Given the description of an element on the screen output the (x, y) to click on. 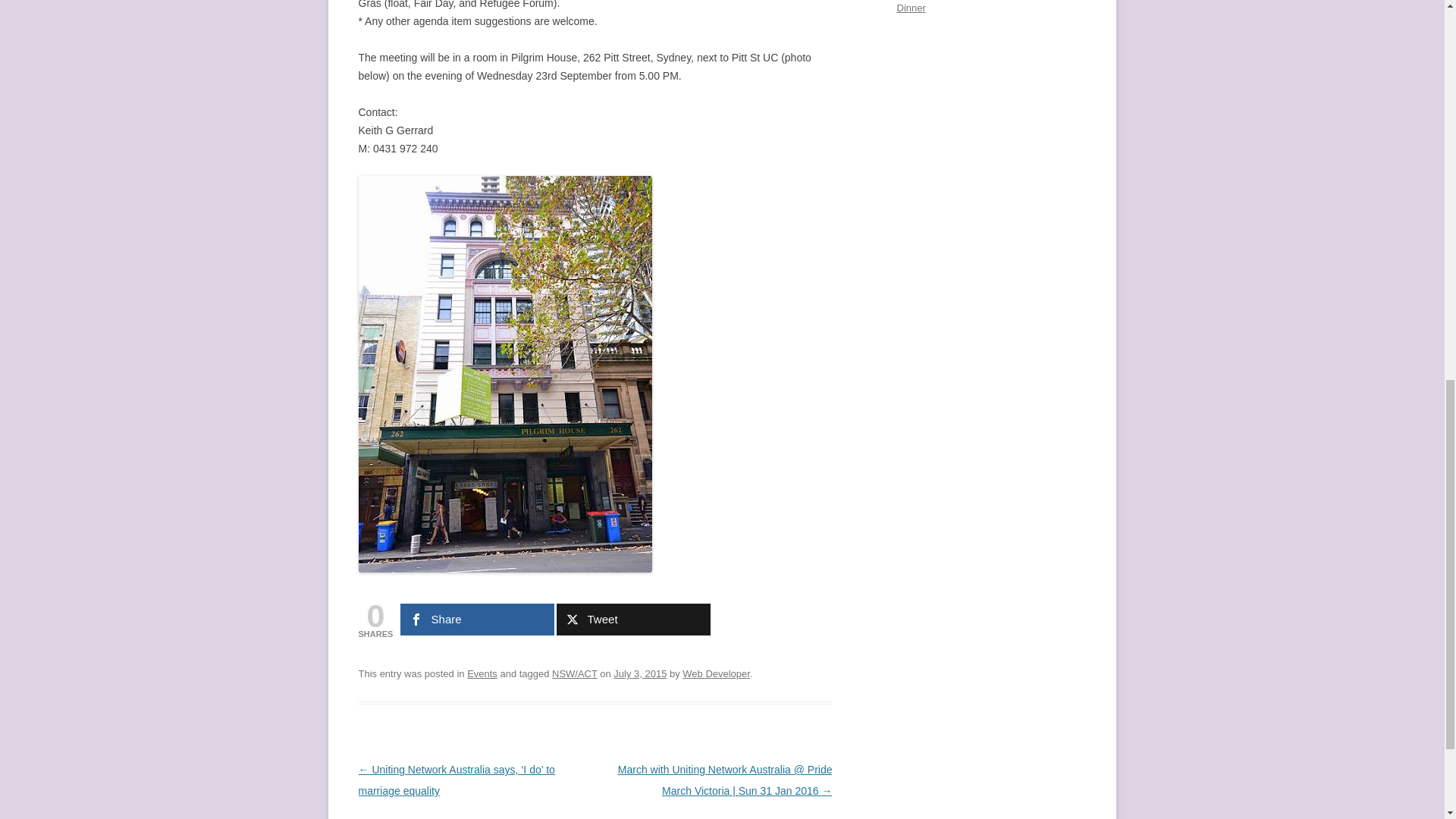
July 3, 2015 (639, 673)
Tweet (633, 619)
View all posts by Web Developer (715, 673)
Web Developer (715, 673)
Share (477, 619)
10:27 pm (639, 673)
Events (482, 673)
